Given the description of an element on the screen output the (x, y) to click on. 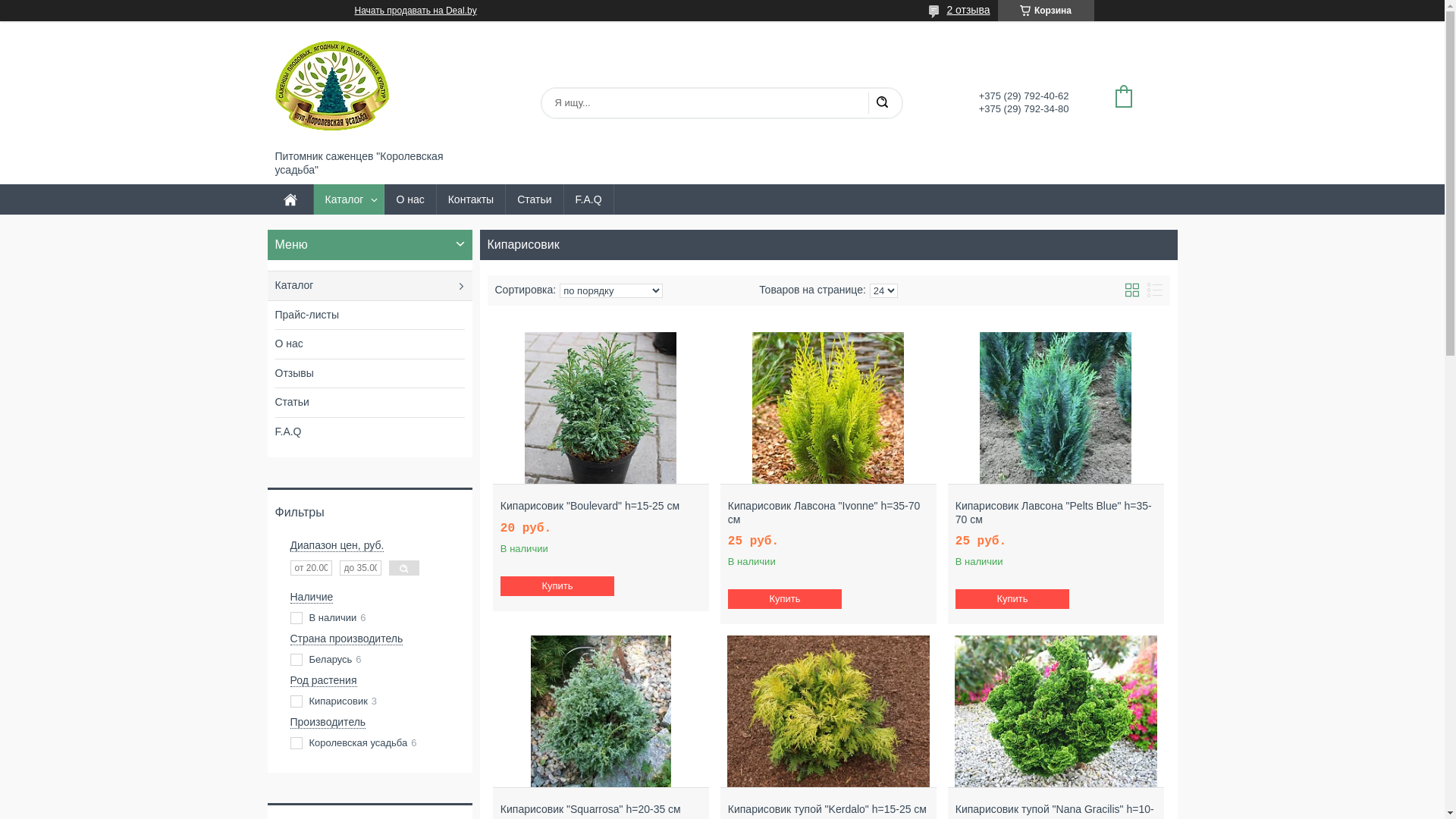
F.A.Q Element type: text (588, 200)
F.A.Q Element type: text (369, 431)
